Given the description of an element on the screen output the (x, y) to click on. 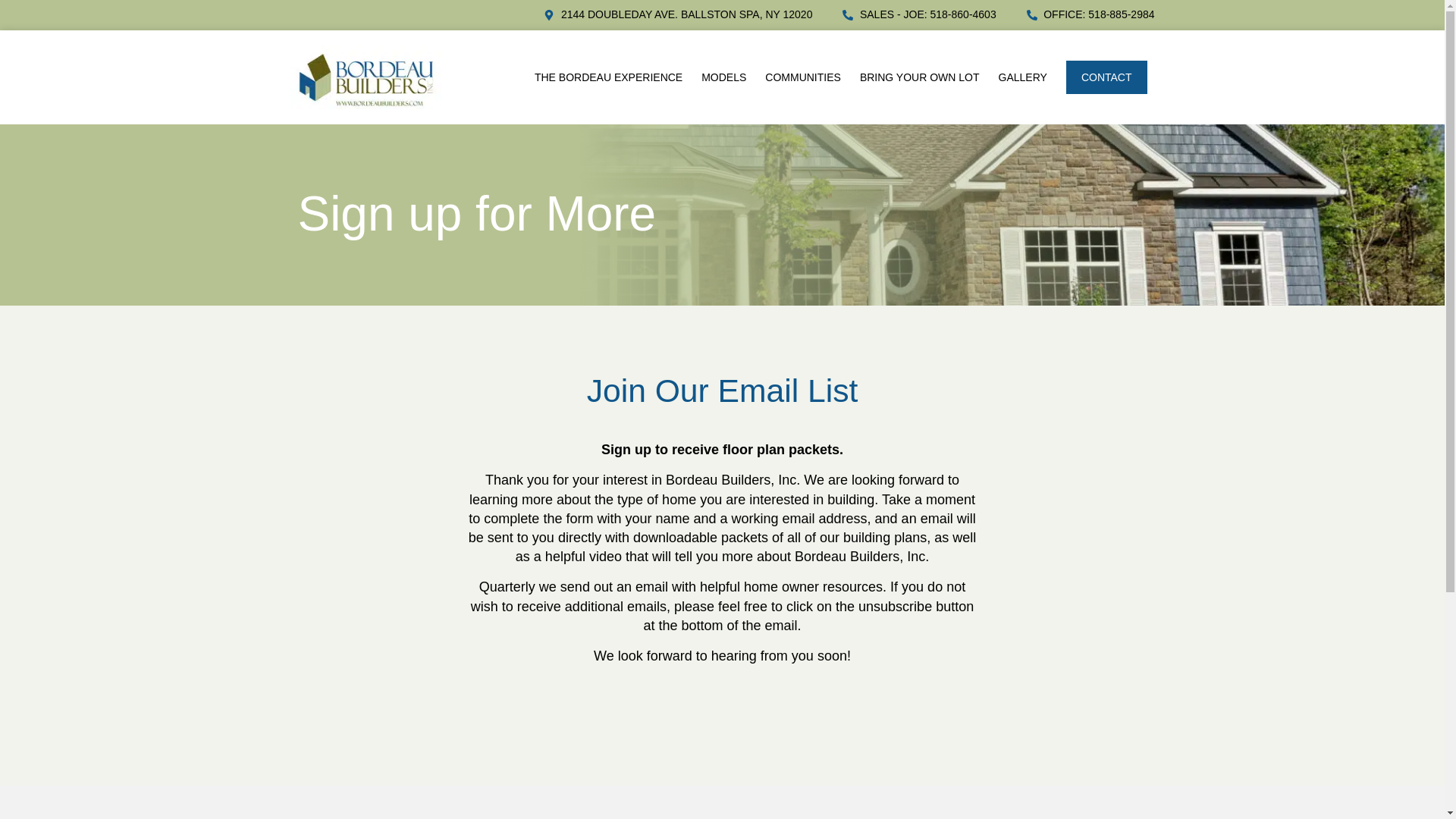
OFFICE: 518-885-2984 (1090, 14)
COMMUNITIES (803, 77)
CONTACT (1106, 77)
SALES - JOE: 518-860-4603 (919, 14)
MODELS (723, 77)
GALLERY (1022, 77)
BRING YOUR OWN LOT (919, 77)
THE BORDEAU EXPERIENCE (608, 77)
